Given the description of an element on the screen output the (x, y) to click on. 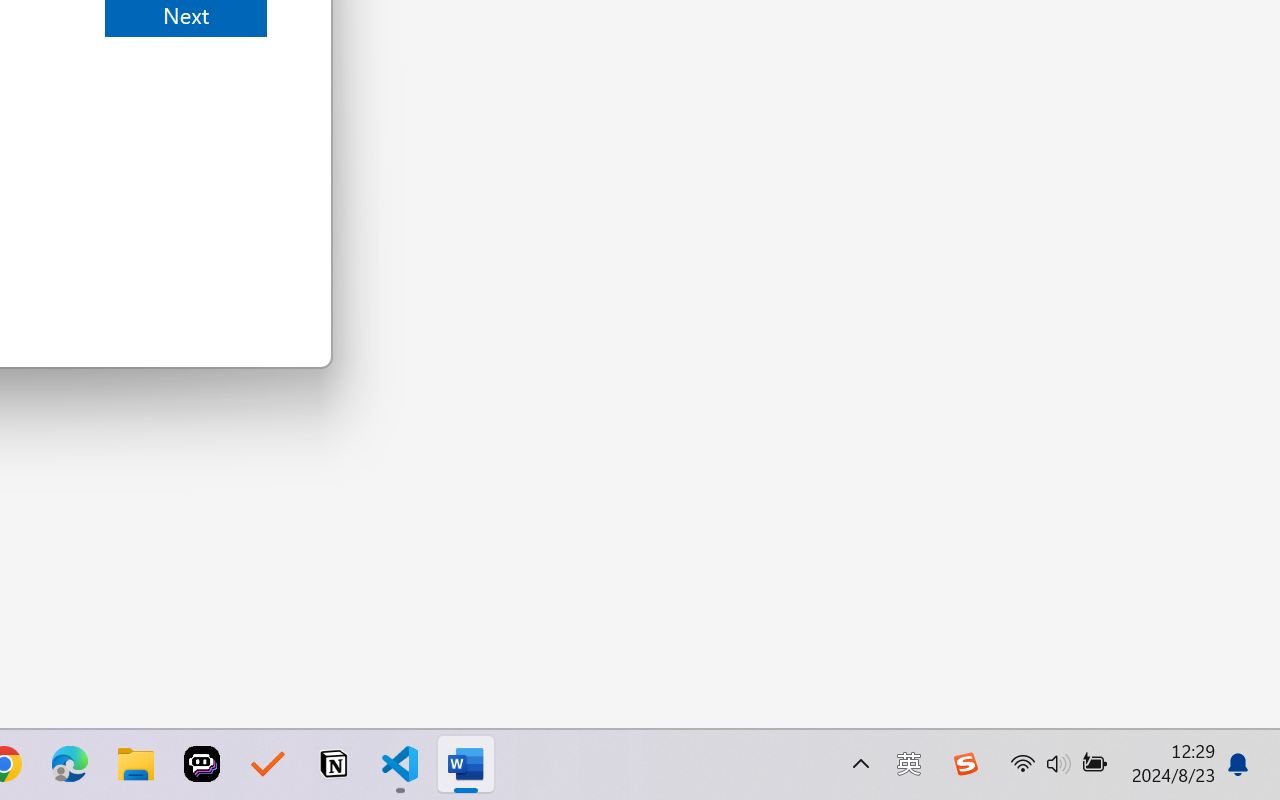
Microsoft Edge (69, 764)
